Given the description of an element on the screen output the (x, y) to click on. 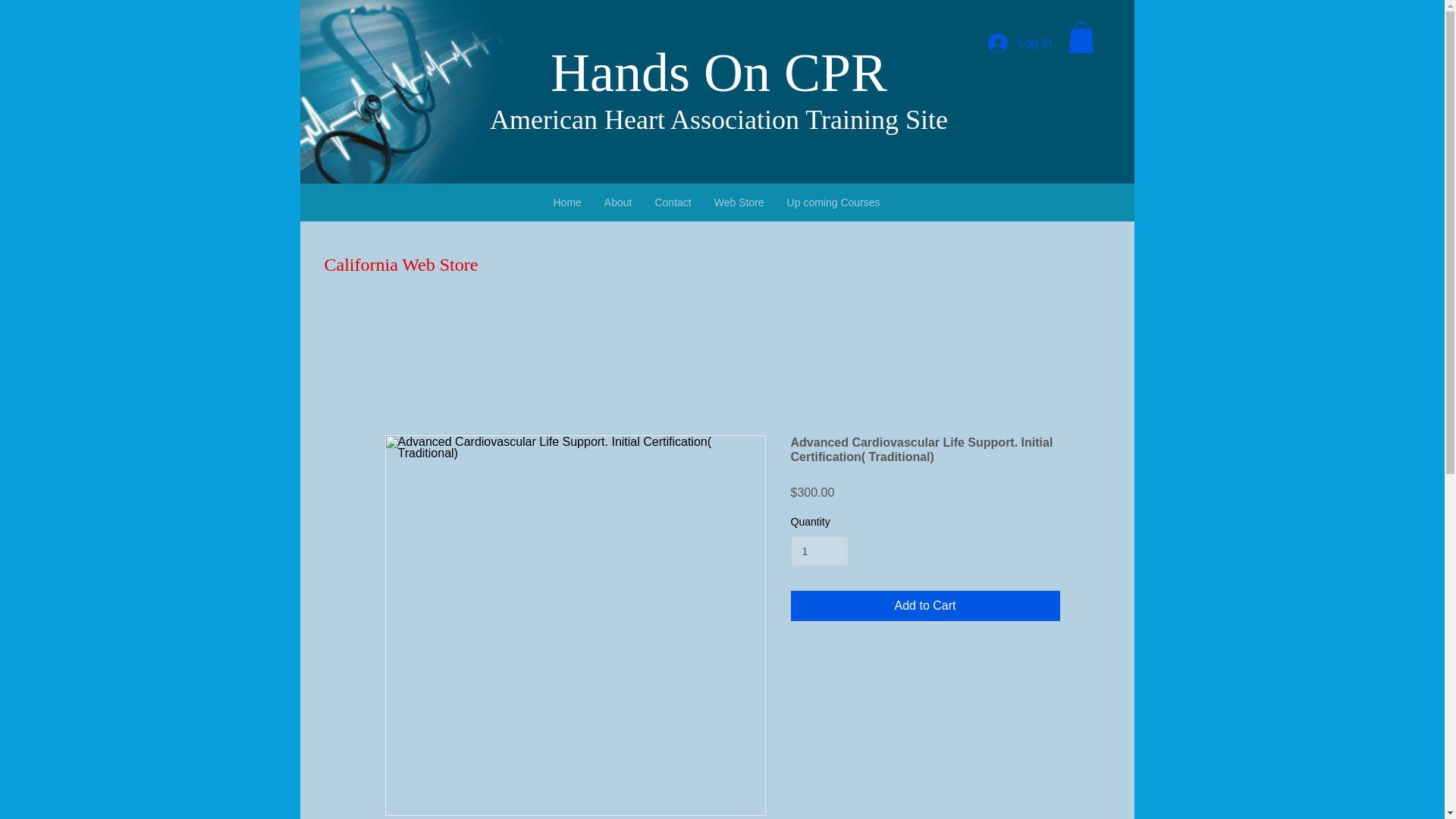
Add to Cart (924, 605)
Web Store (739, 201)
About (617, 201)
Contact (672, 201)
1 (818, 551)
Home (566, 201)
Log In (1019, 42)
Up coming Courses (833, 201)
